Given the description of an element on the screen output the (x, y) to click on. 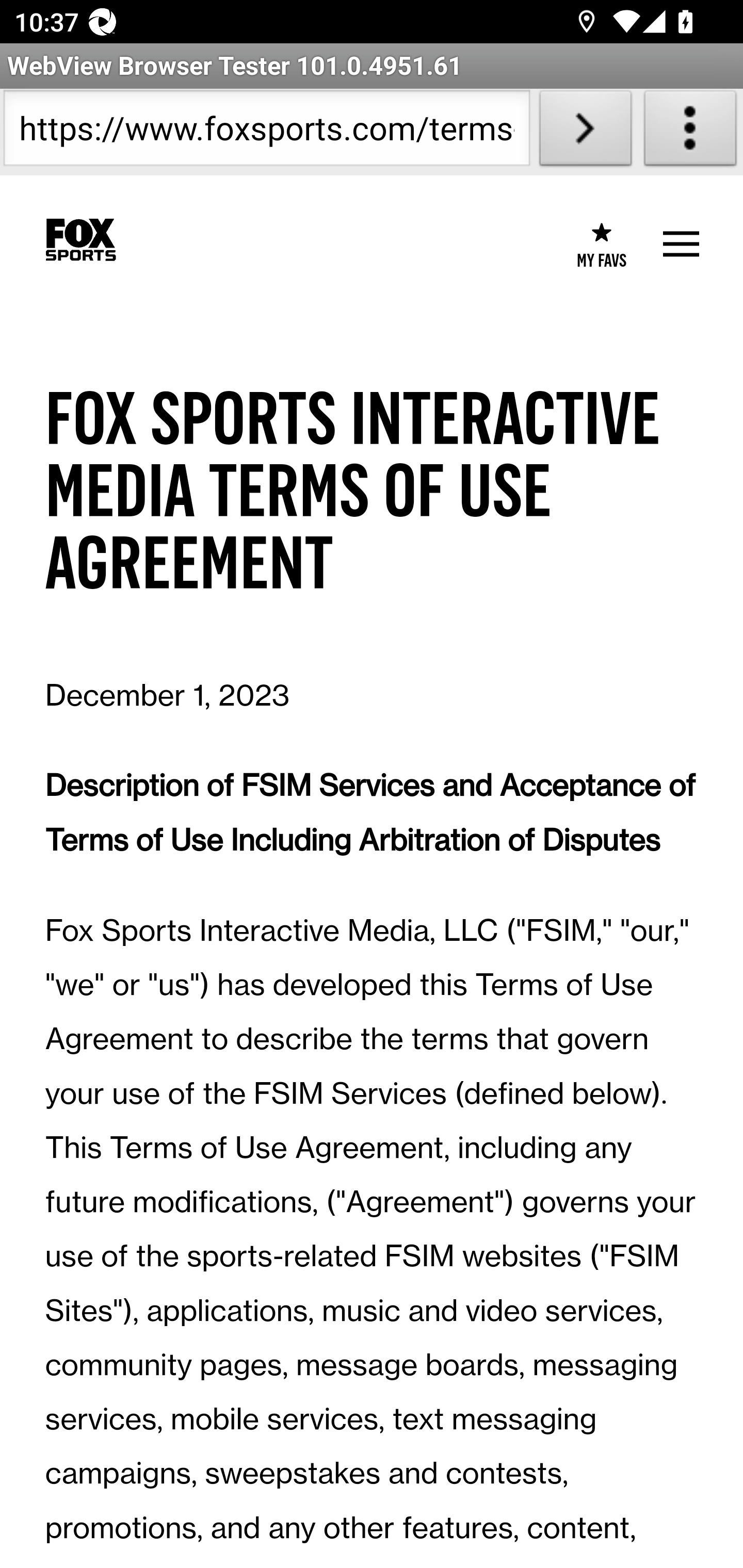
https://www.foxsports.com/terms-of-use (266, 132)
Load URL (585, 132)
About WebView (690, 132)
Home Page Link (80, 240)
